Given the description of an element on the screen output the (x, y) to click on. 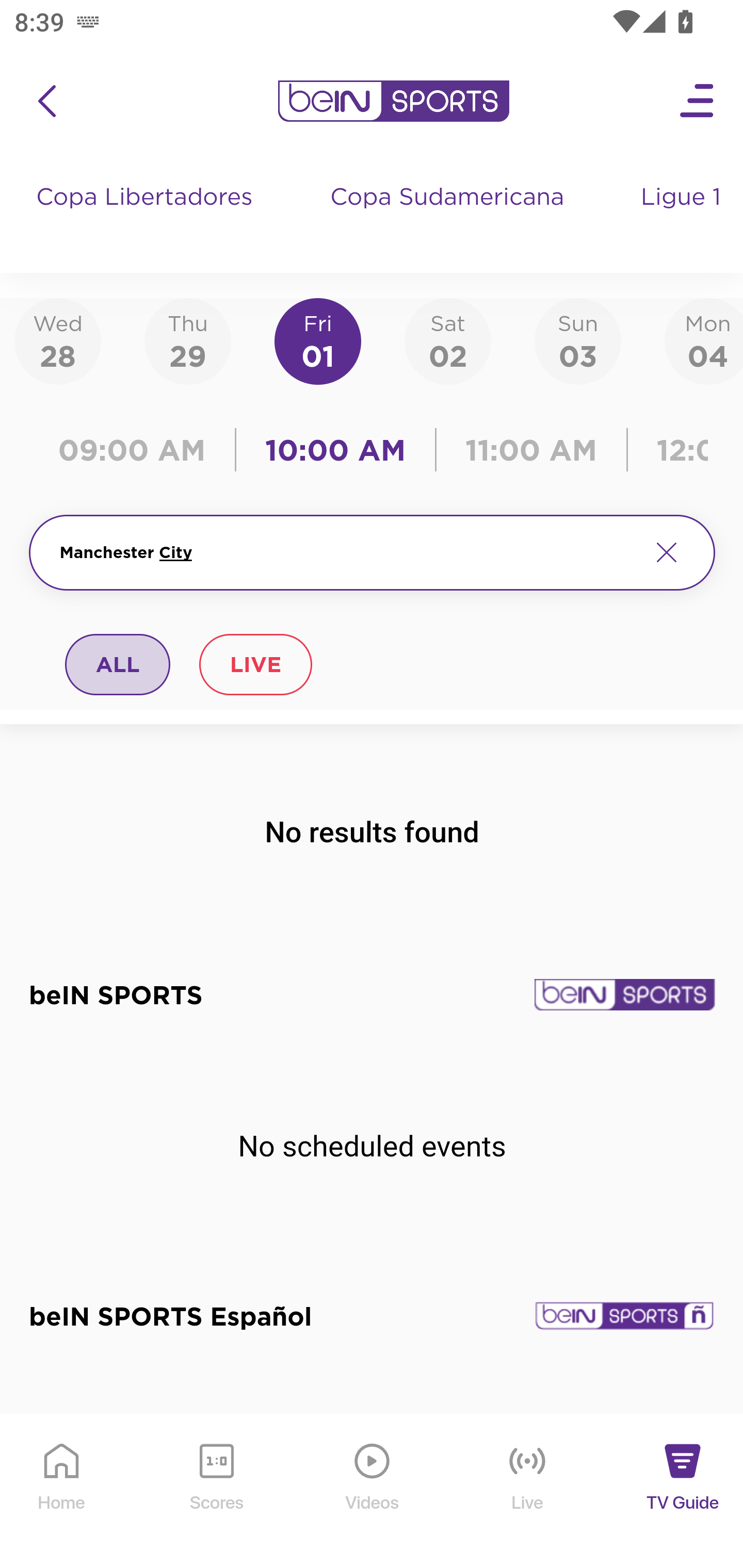
en-us?platform=mobile_android bein logo (392, 101)
icon back (46, 101)
Open Menu Icon (697, 101)
Copa Libertadores (146, 216)
Copa Sudamericana (448, 216)
Ligue 1 (682, 216)
Wed28 (58, 340)
Thu29 (187, 340)
Fri01 (318, 340)
Sat02 (447, 340)
Sun03 (578, 340)
Mon04 (703, 340)
09:00 AM (136, 449)
10:00 AM (335, 449)
11:00 AM (531, 449)
Manchester City (346, 552)
ALL (118, 663)
LIVE (255, 663)
Home Home Icon Home (61, 1491)
Scores Scores Icon Scores (216, 1491)
Videos Videos Icon Videos (372, 1491)
TV Guide TV Guide Icon TV Guide (682, 1491)
